Given the description of an element on the screen output the (x, y) to click on. 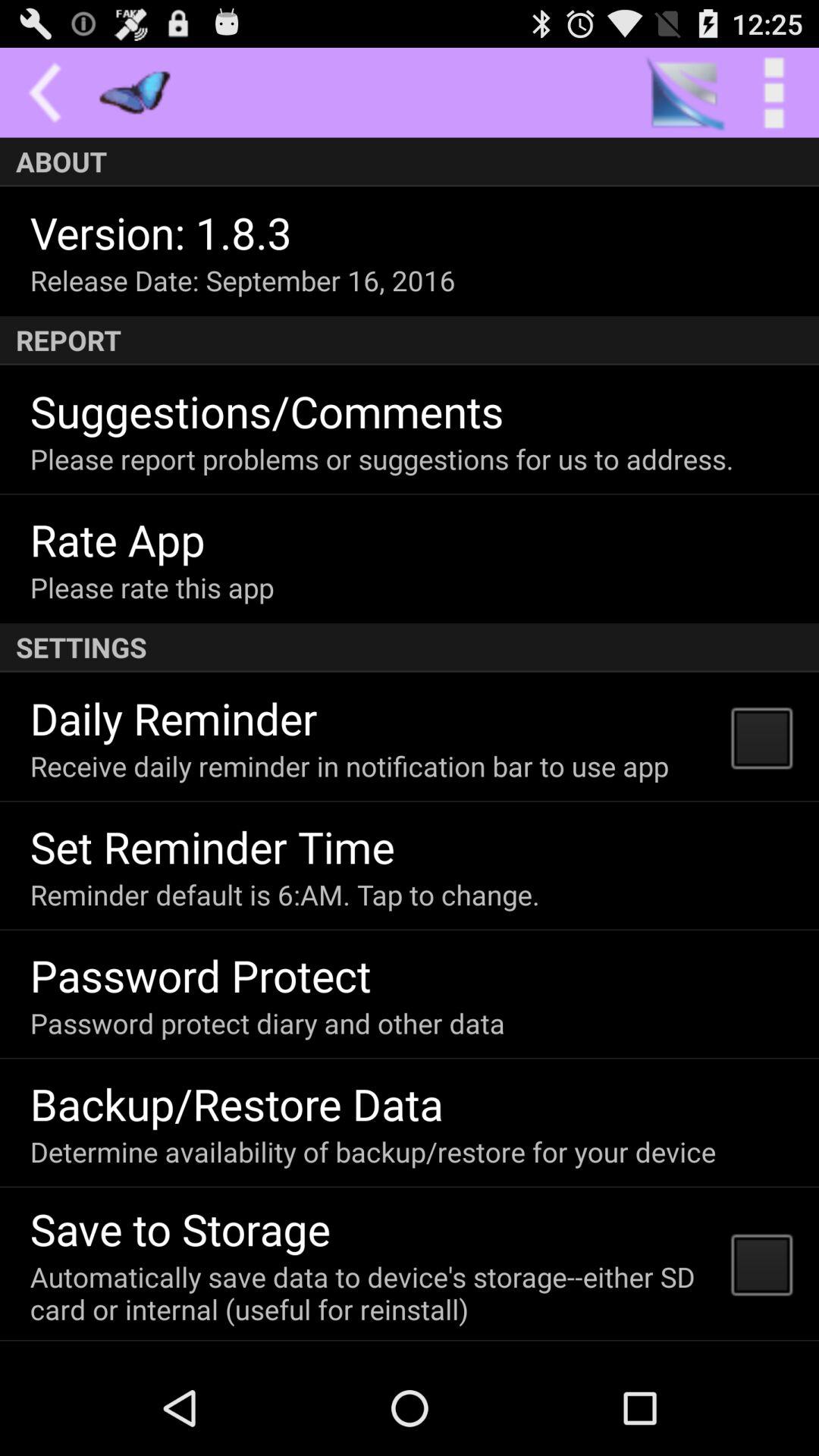
open icon above settings icon (152, 587)
